Given the description of an element on the screen output the (x, y) to click on. 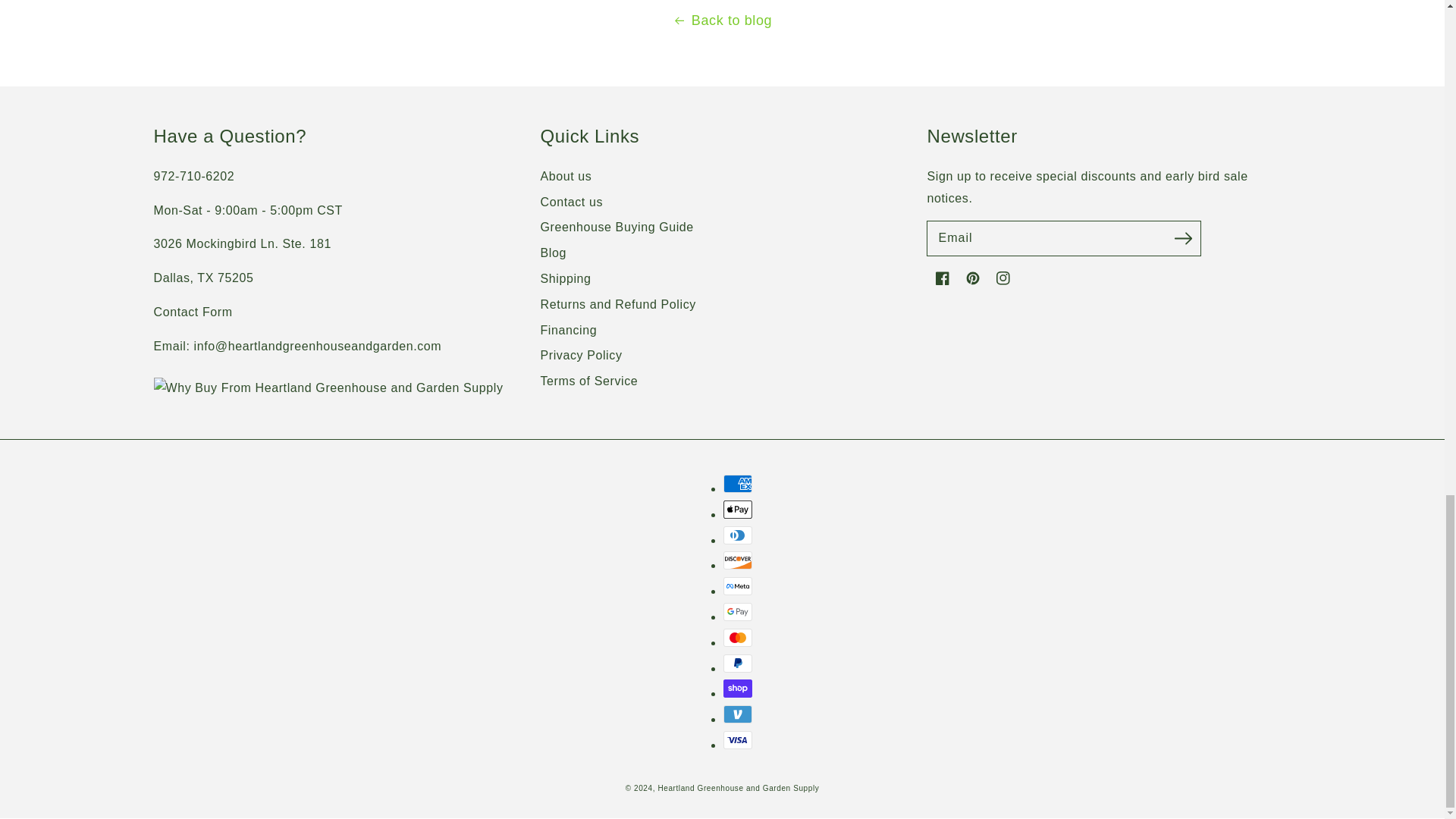
Venmo (737, 714)
PayPal (737, 663)
Apple Pay (737, 509)
Contact us (191, 311)
Meta Pay (737, 586)
Google Pay (737, 611)
Visa (737, 740)
Mastercard (737, 637)
Shop Pay (737, 688)
American Express (737, 484)
Discover (737, 560)
Diners Club (737, 535)
